Given the description of an element on the screen output the (x, y) to click on. 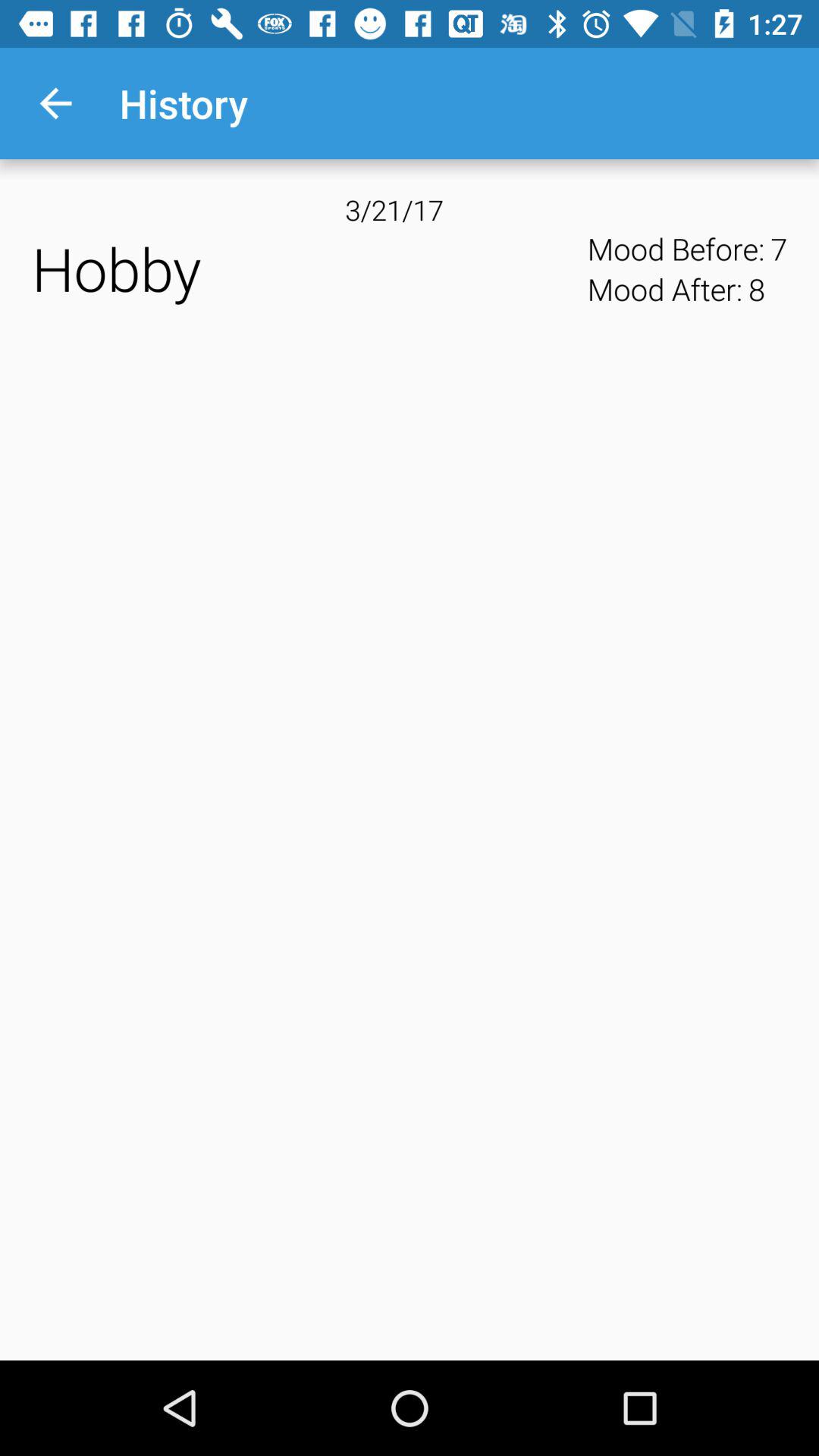
choose the icon next to 7 item (756, 289)
